Given the description of an element on the screen output the (x, y) to click on. 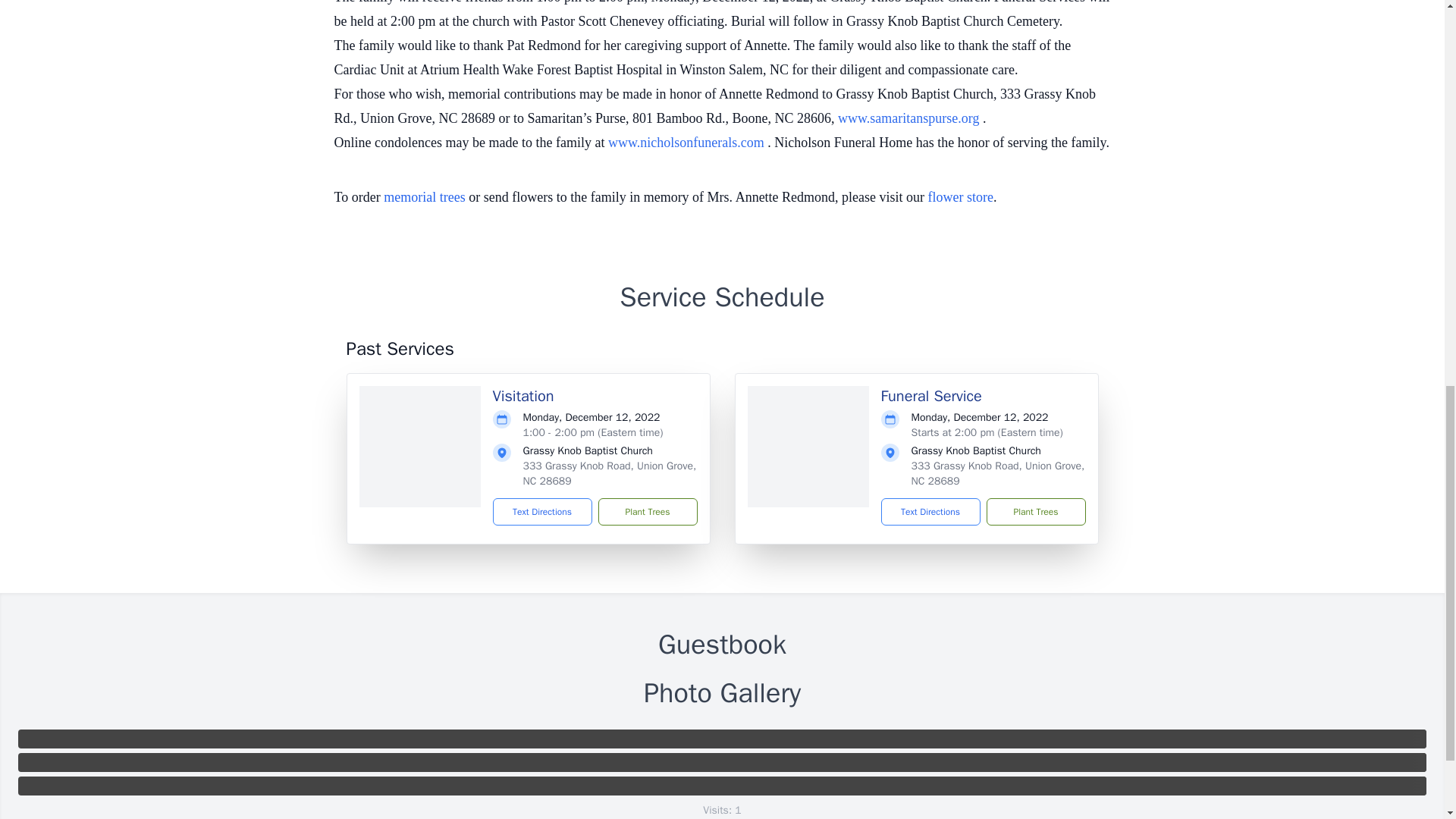
Text Directions (929, 511)
Text Directions (542, 511)
memorial trees (424, 196)
333 Grassy Knob Road, Union Grove, NC 28689 (609, 473)
Click to open in a new window or tab (687, 142)
www.nicholsonfunerals.com (687, 142)
333 Grassy Knob Road, Union Grove, NC 28689 (997, 473)
Click to open in a new window or tab (910, 118)
Plant Trees (1034, 511)
flower store (960, 196)
